Given the description of an element on the screen output the (x, y) to click on. 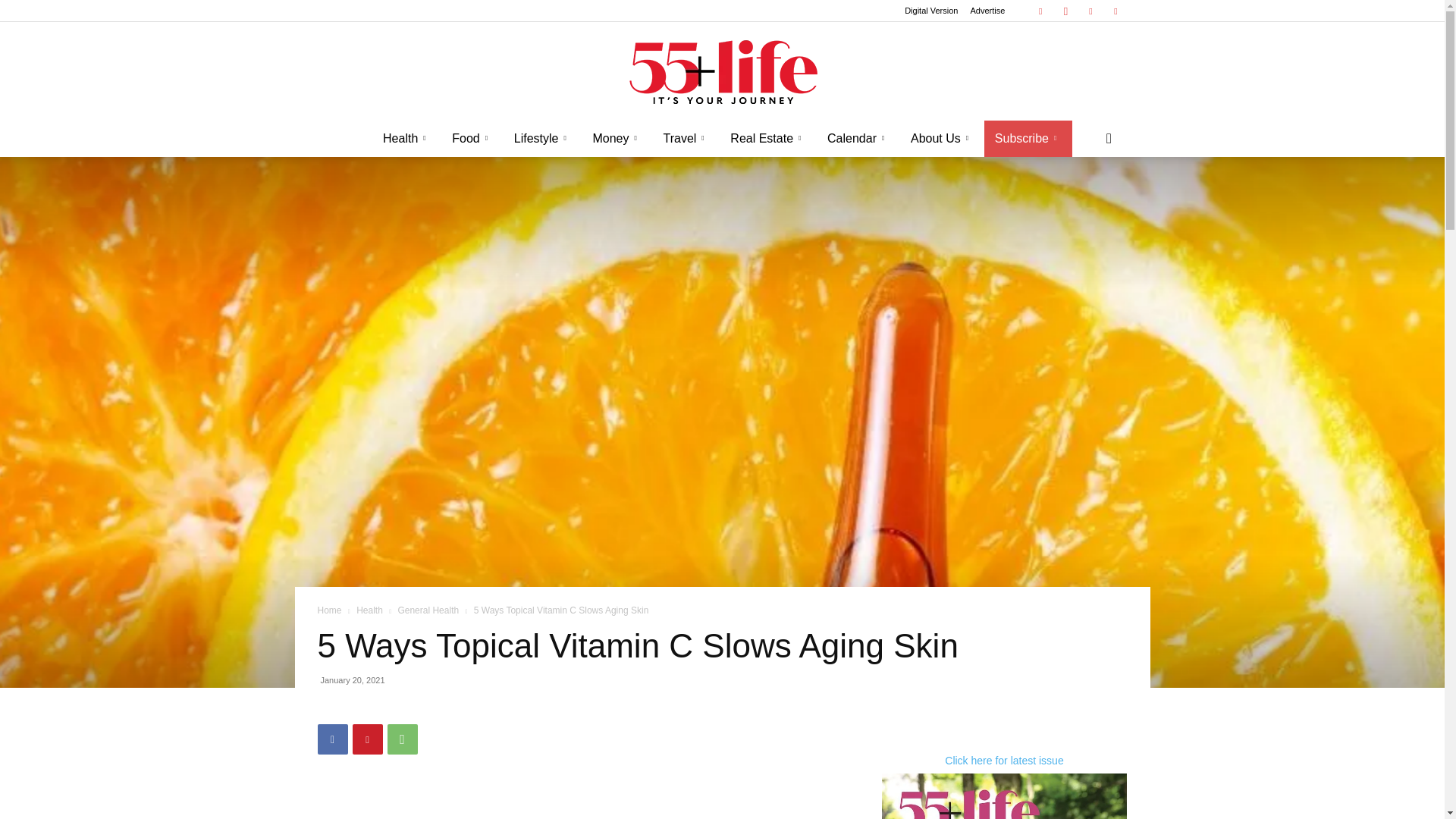
Facebook (332, 738)
Facebook (1040, 10)
Instagram (1065, 10)
View all posts in Health (369, 610)
View all posts in General Health (427, 610)
Pinterest (366, 738)
Pinterest (1114, 10)
WhatsApp (401, 738)
Linkedin (1090, 10)
